Given the description of an element on the screen output the (x, y) to click on. 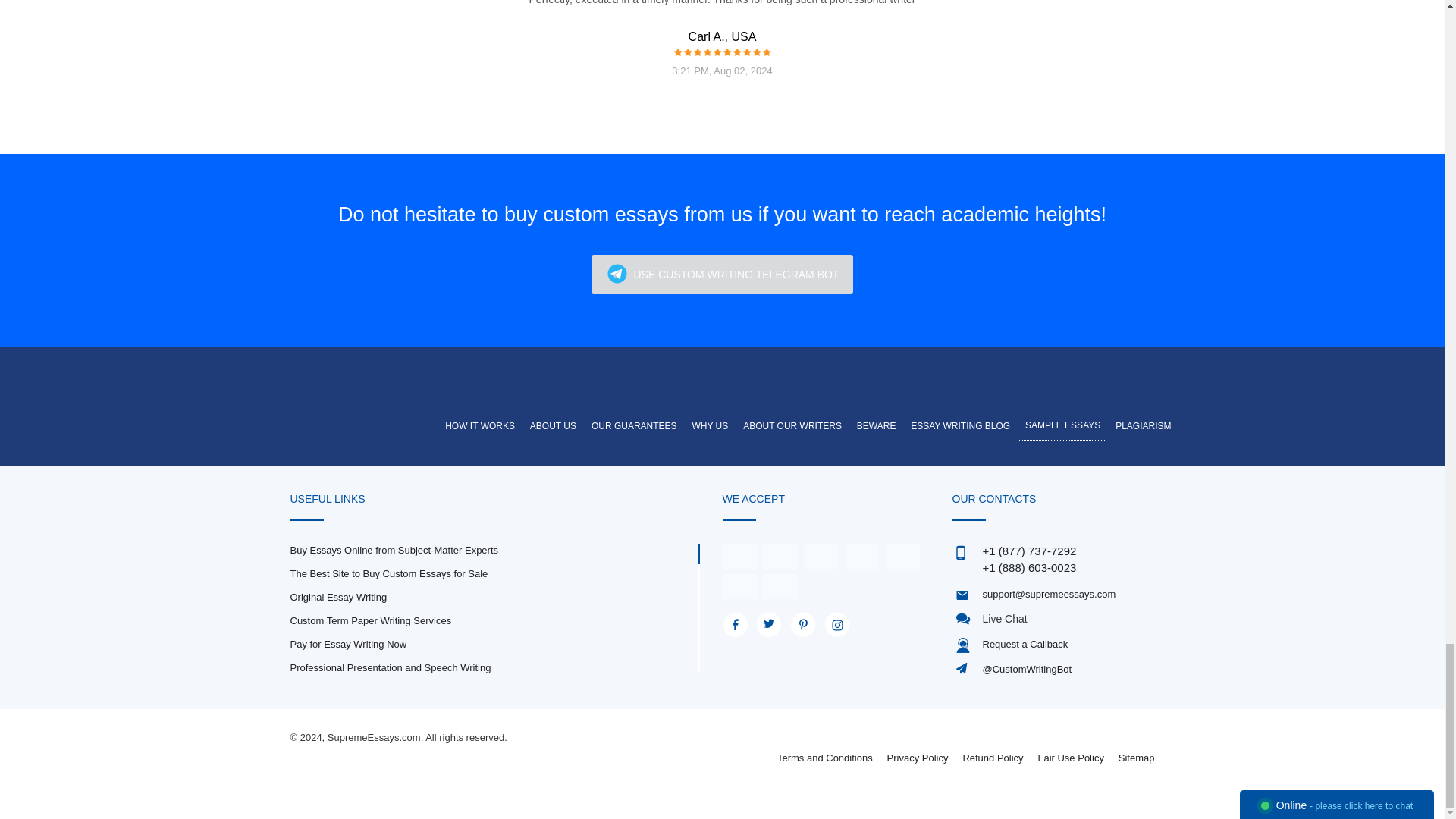
Credit cards by American Express (820, 554)
Apple pay (861, 554)
Supremeessays.com (374, 390)
Credit cards by Discover (902, 554)
Credit and debit cards by MasterCard (779, 554)
Credit cards by Diners Club (738, 585)
Credit cards by JCB (779, 585)
Credit and debit cards by Visa (738, 554)
